Given the description of an element on the screen output the (x, y) to click on. 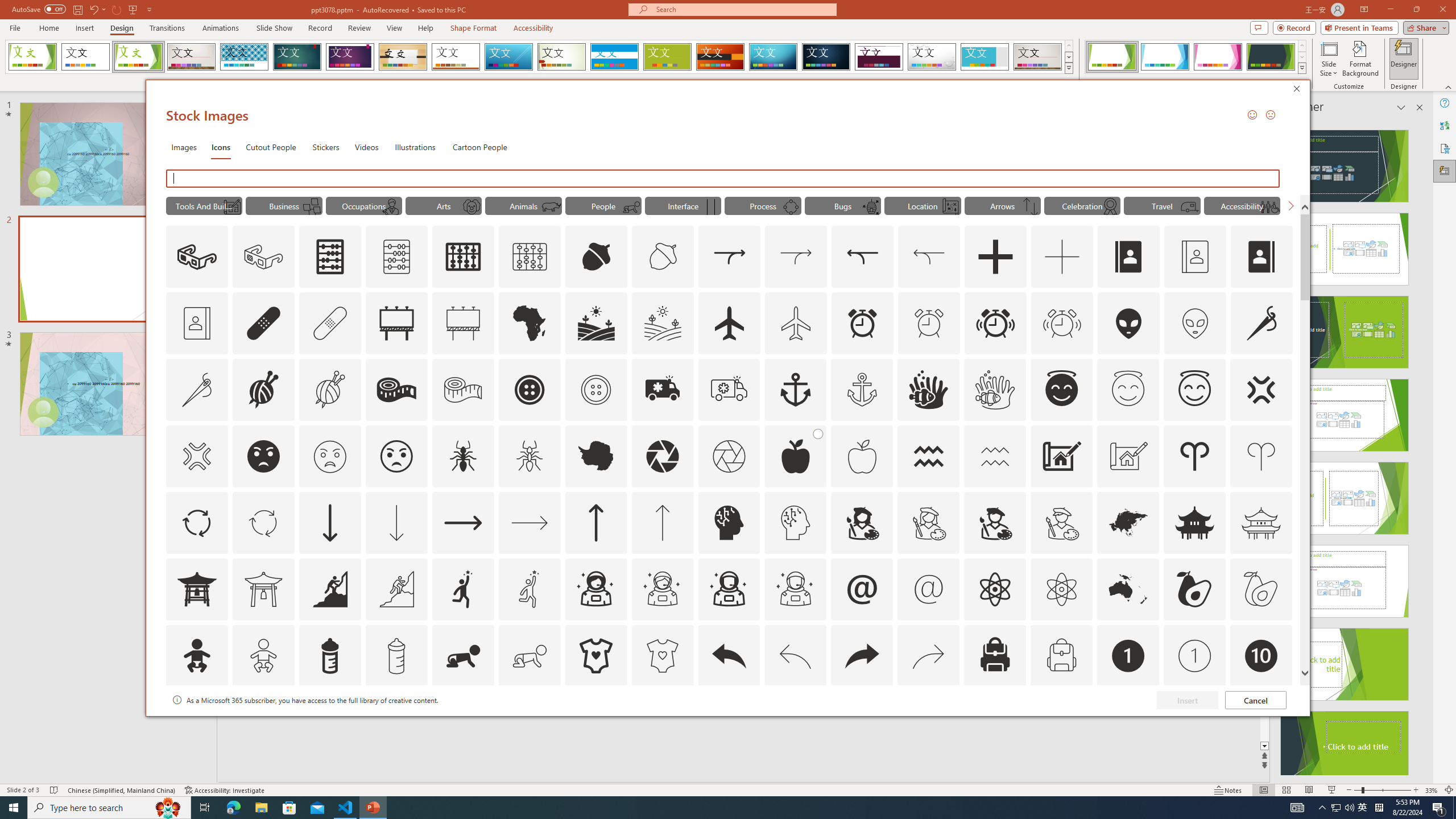
AutomationID: Icons_BeeWithHive_M (870, 206)
AutomationID: Icons_AngryFace_Outline (395, 455)
AutomationID: Icons_ArtistFemale (861, 522)
AutomationID: Icons_Baby_M (263, 655)
AutomationID: Icons_AsianTemple (1194, 522)
AutomationID: Icons_BabyBottle_M (395, 655)
AutomationID: Icons_Africa (529, 323)
AutomationID: Icons_Airplane_M (796, 323)
AutomationID: Icons_AlarmClock (863, 323)
